Given the description of an element on the screen output the (x, y) to click on. 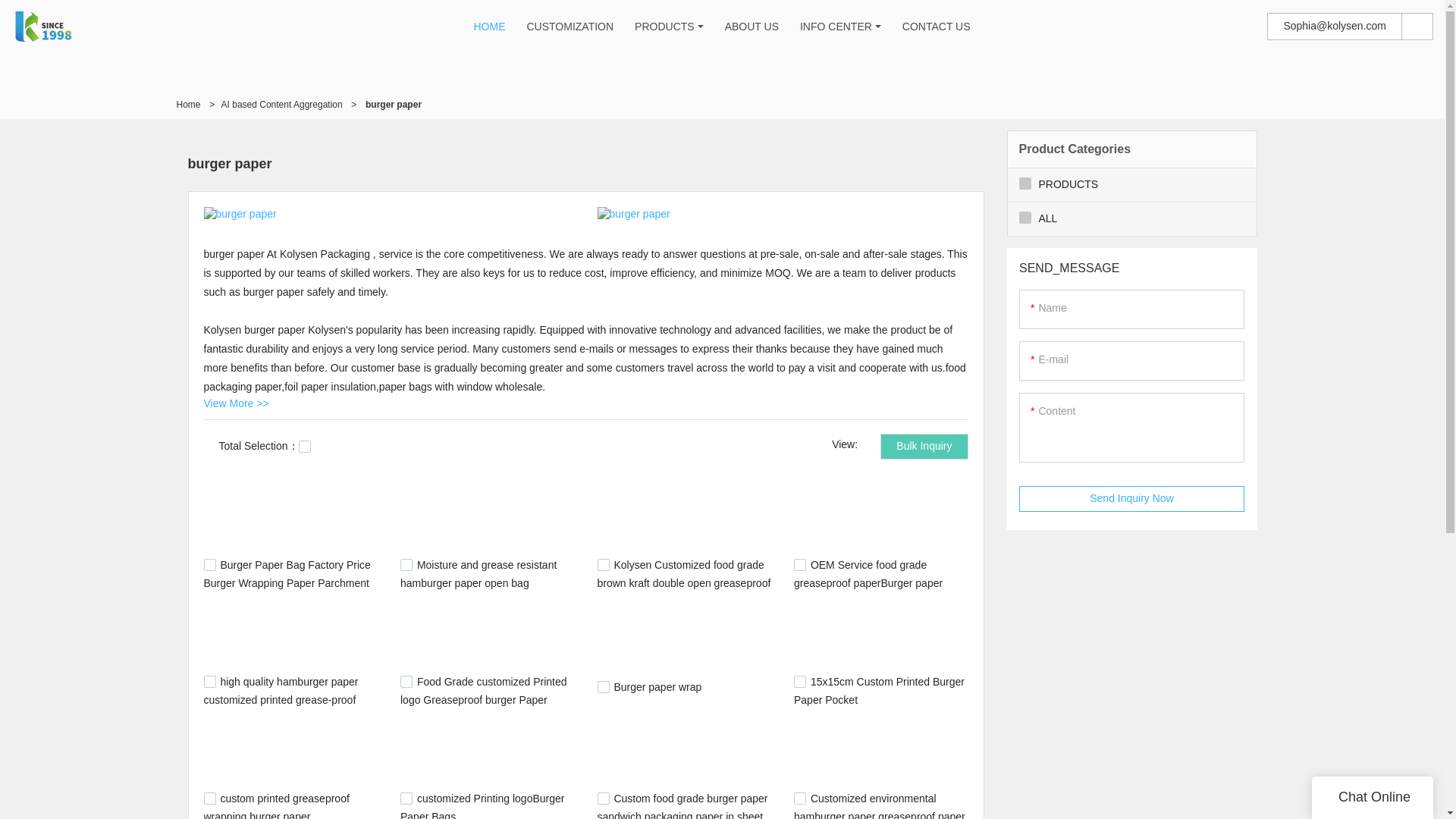
5844 (209, 681)
ABOUT US (751, 26)
PRODUCTS (664, 26)
CUSTOMIZATION (568, 26)
Moisture and grease resistant hamburger paper open bag (478, 573)
CONTACT US (936, 26)
5244 (406, 564)
HOME (489, 26)
customized Printing logoBurger Paper Bags (482, 805)
6176 (603, 686)
7651 (603, 798)
on (304, 446)
Food Grade customized Printed logo Greaseproof burger Paper (483, 690)
